Given the description of an element on the screen output the (x, y) to click on. 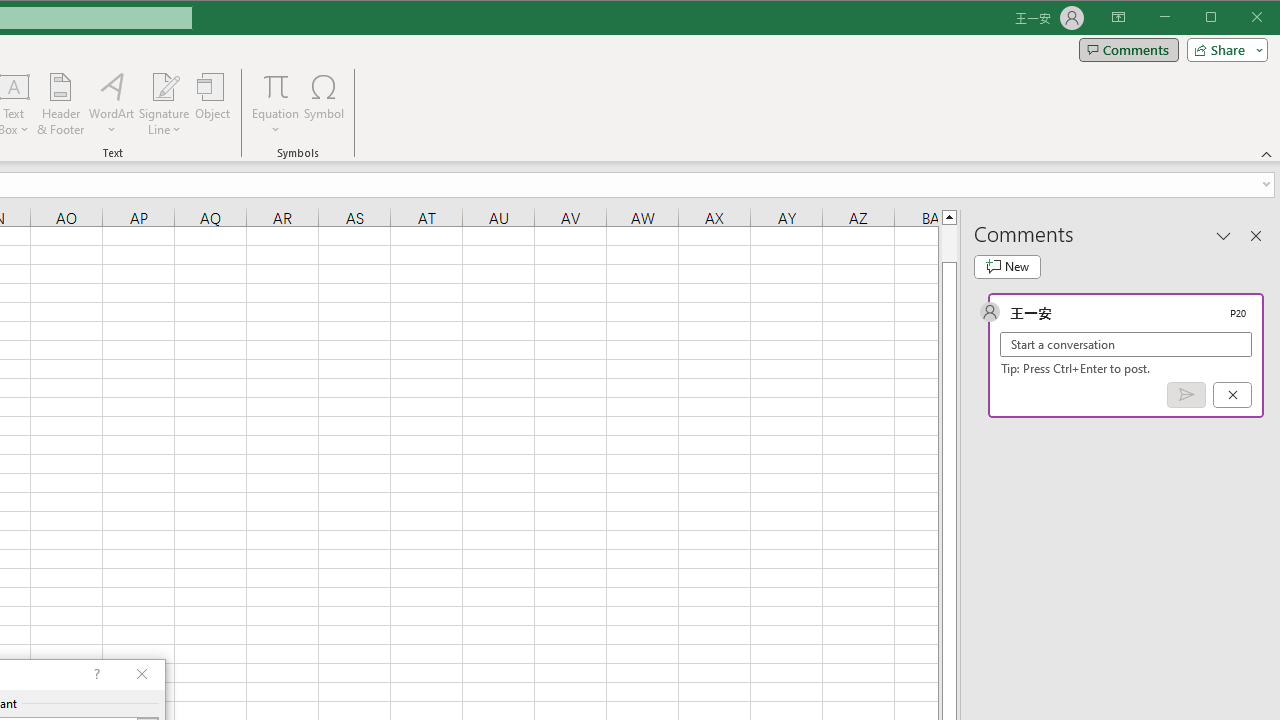
Object... (213, 104)
Symbol... (324, 104)
Equation (275, 86)
Page up (948, 243)
Header & Footer... (60, 104)
Maximize (1239, 18)
New comment (1007, 266)
Cancel (1232, 395)
